Given the description of an element on the screen output the (x, y) to click on. 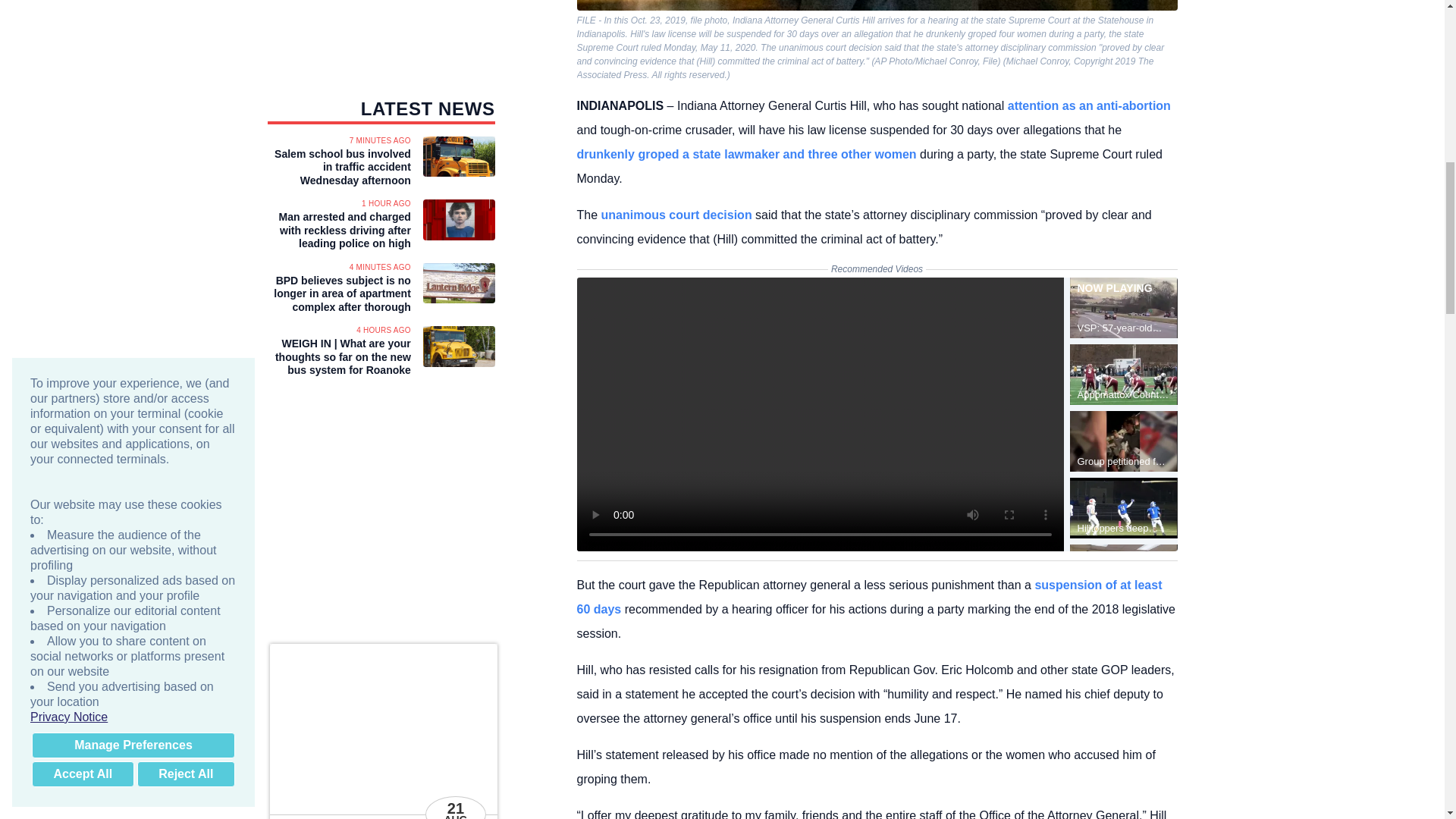
Playback Speed Settings (1017, 531)
Up Next (651, 531)
Play (591, 531)
Unmute (681, 531)
Advertisement (819, 414)
Rewind 10 Seconds (622, 531)
Fullscreen (1047, 531)
